Given the description of an element on the screen output the (x, y) to click on. 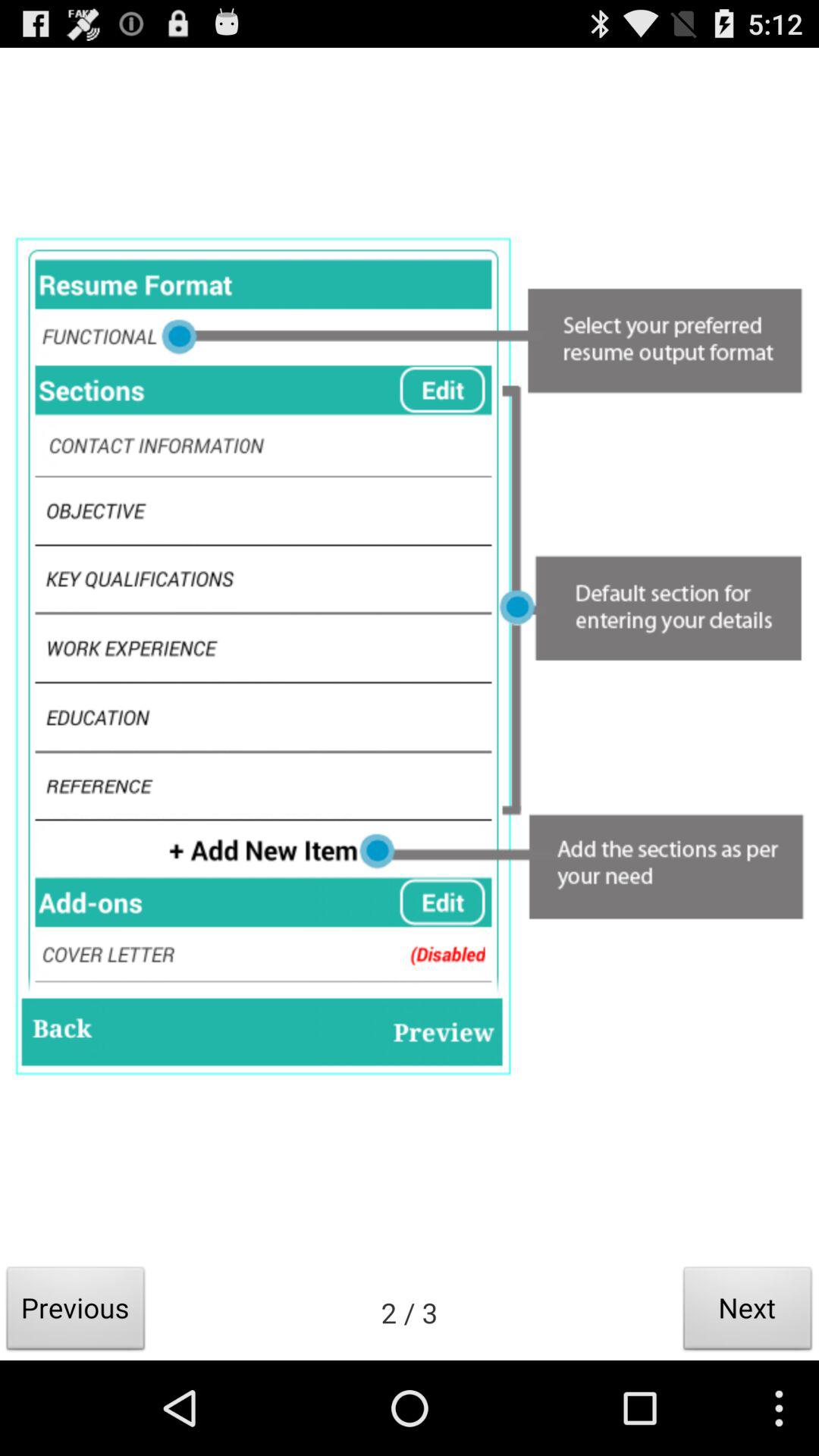
select previous button (75, 1312)
